Given the description of an element on the screen output the (x, y) to click on. 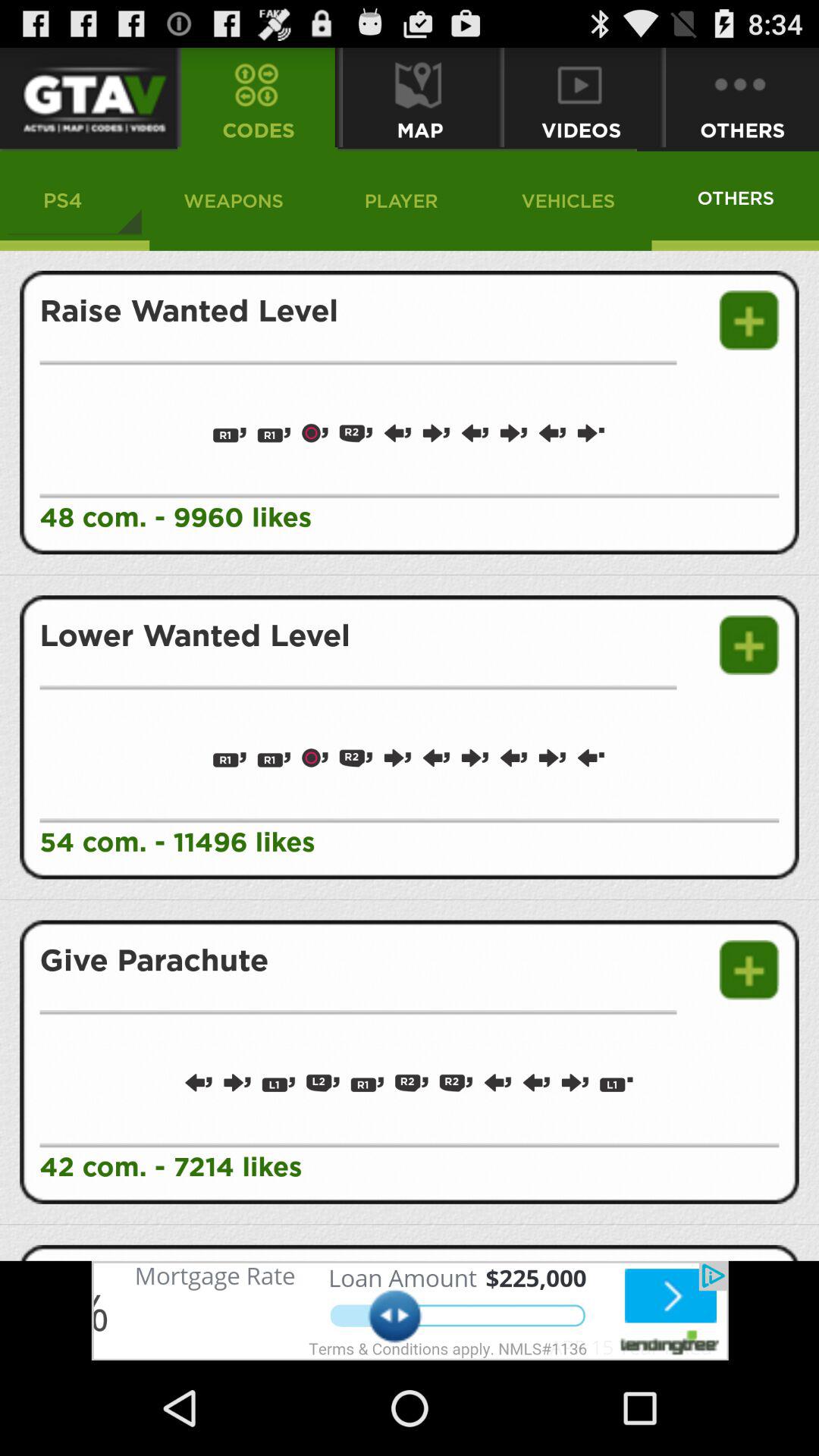
main menu (86, 97)
